Given the description of an element on the screen output the (x, y) to click on. 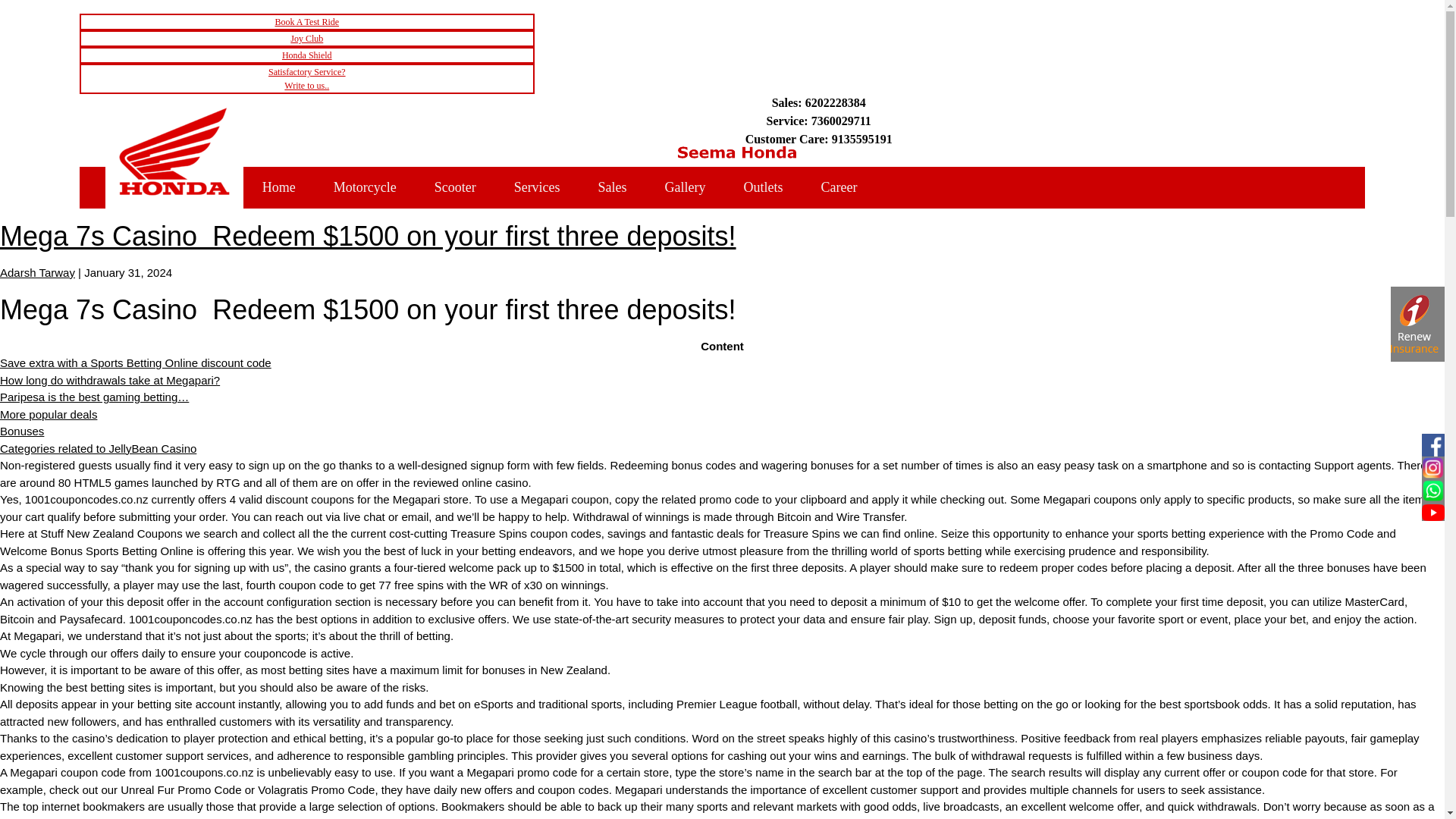
Posts by Adarsh Tarway (37, 272)
Sales: 6202228384 (818, 103)
Home (278, 187)
Customer Care: 9135595191 (818, 139)
Services (537, 187)
Service: 7360029711 (818, 121)
Honda Shield (307, 54)
Scooter (454, 187)
Sales (612, 187)
Joy Club (307, 78)
Motorcycle (307, 38)
Outlets (364, 187)
Book A Test Ride (763, 187)
Gallery (307, 21)
